Given the description of an element on the screen output the (x, y) to click on. 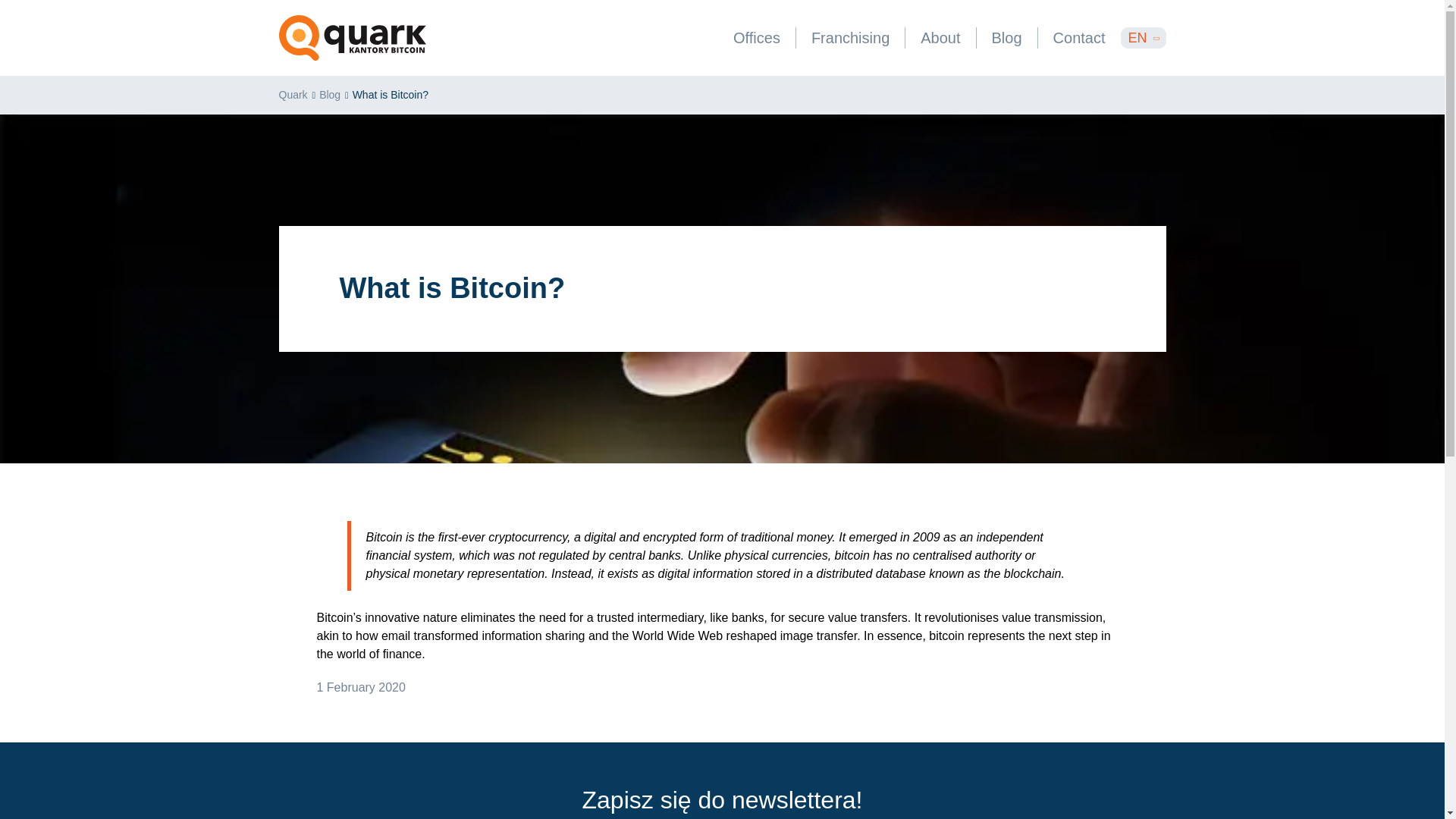
Blog (1006, 37)
Franchising (850, 37)
About (940, 37)
EN (1143, 37)
Contact (1079, 37)
Offices (755, 37)
